Given the description of an element on the screen output the (x, y) to click on. 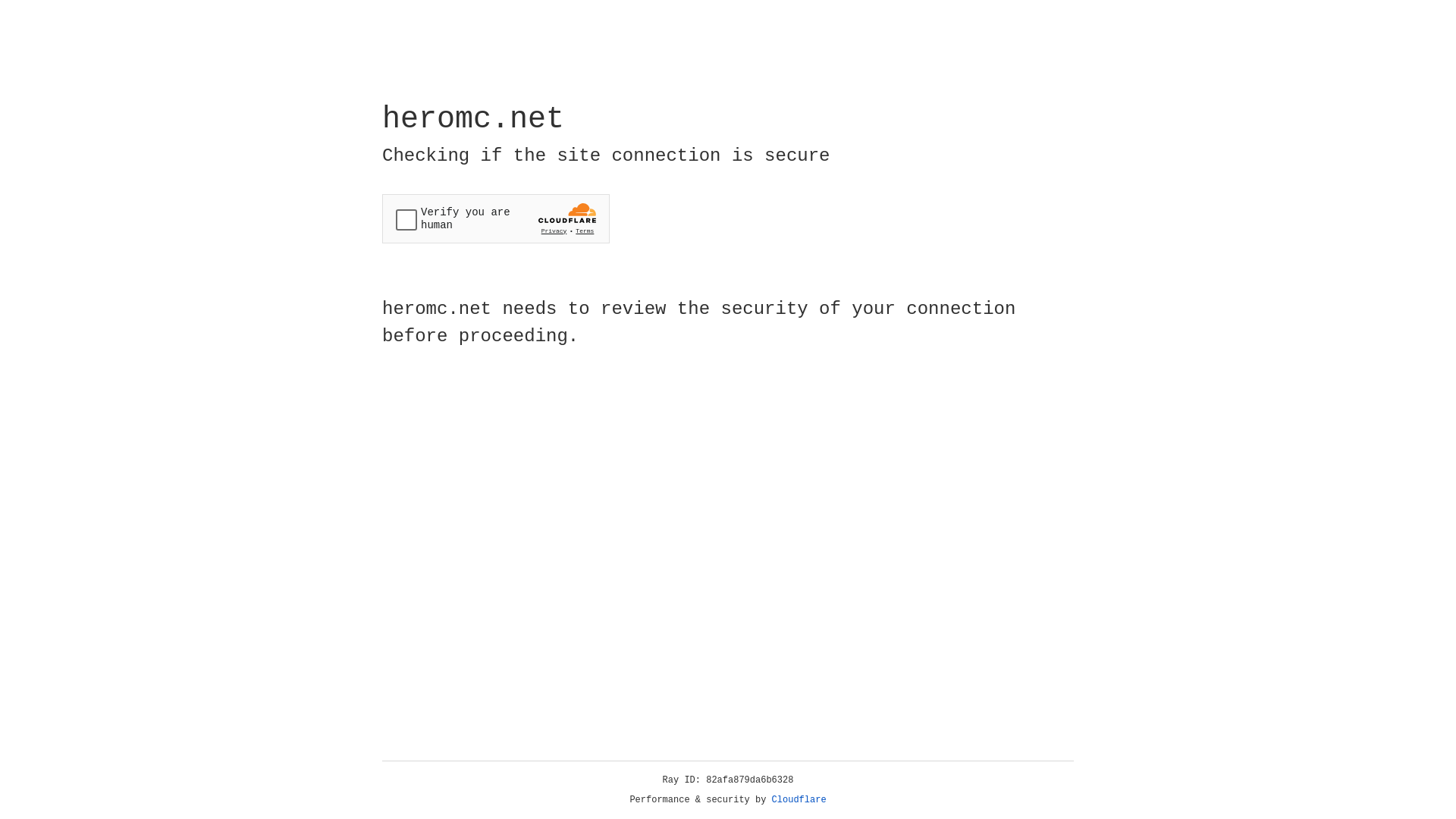
Cloudflare Element type: text (798, 799)
Widget containing a Cloudflare security challenge Element type: hover (495, 218)
